Given the description of an element on the screen output the (x, y) to click on. 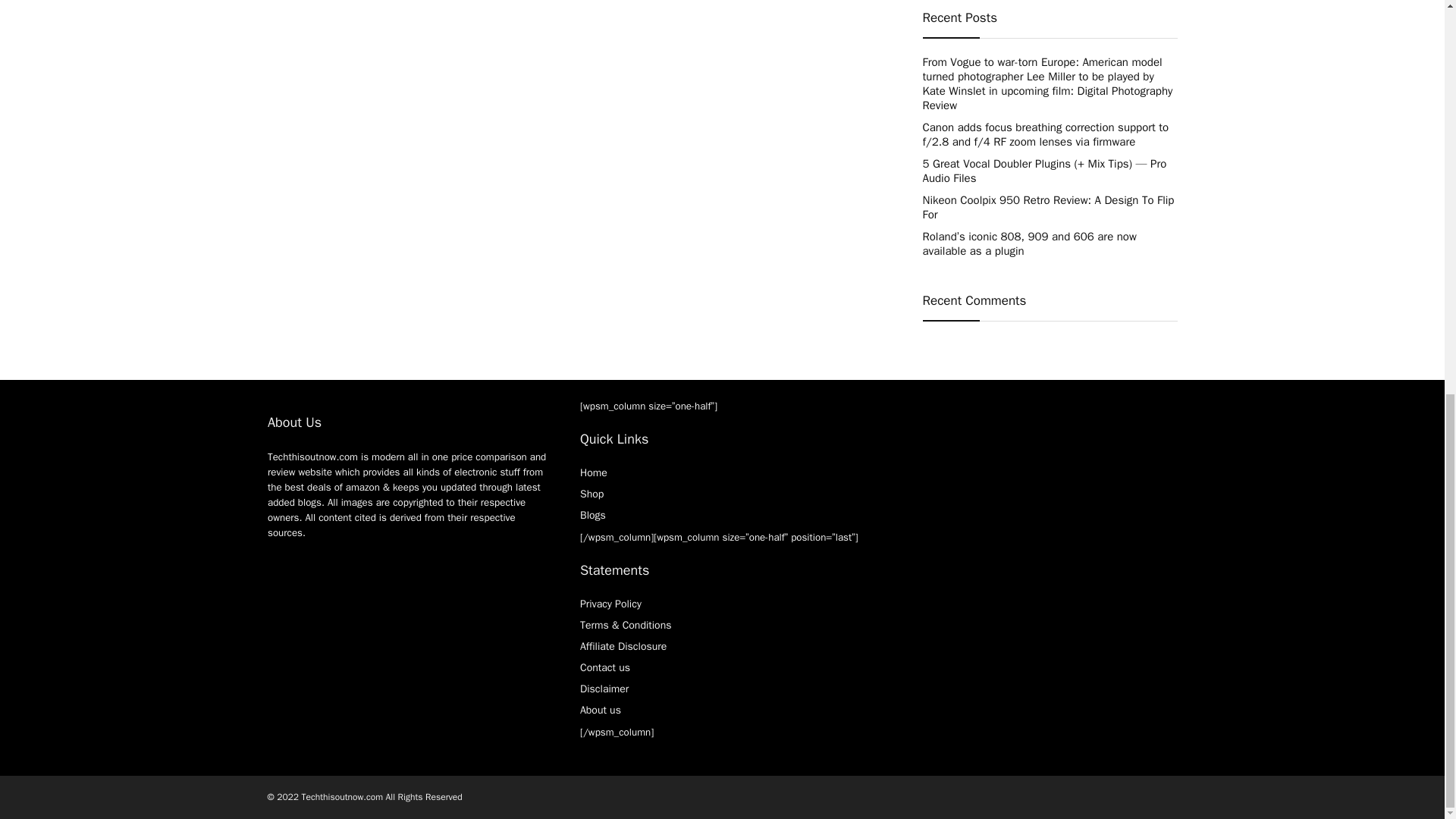
Home (593, 472)
Blogs (592, 514)
Privacy Policy (610, 603)
Nikeon Coolpix 950 Retro Review: A Design To Flip For (1047, 207)
About us (600, 709)
Contact us (604, 667)
Shop (591, 493)
Affiliate Disclosure (622, 645)
Disclaimer (603, 688)
